Given the description of an element on the screen output the (x, y) to click on. 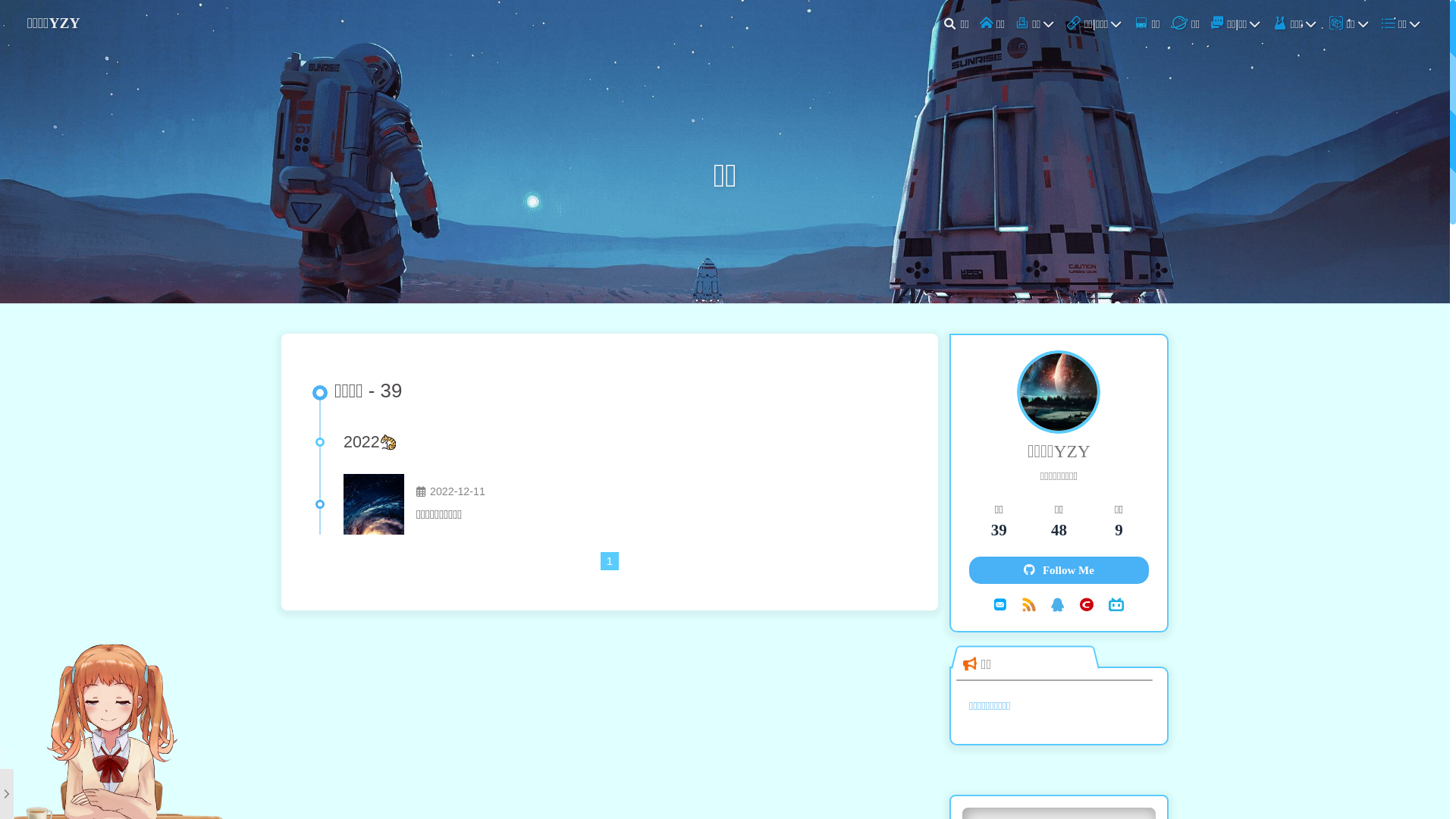
RSS Element type: hover (1028, 604)
QQ Element type: hover (1057, 604)
Email Element type: hover (1000, 604)
Follow Me Element type: text (1058, 569)
CSDN Element type: hover (1086, 604)
